Given the description of an element on the screen output the (x, y) to click on. 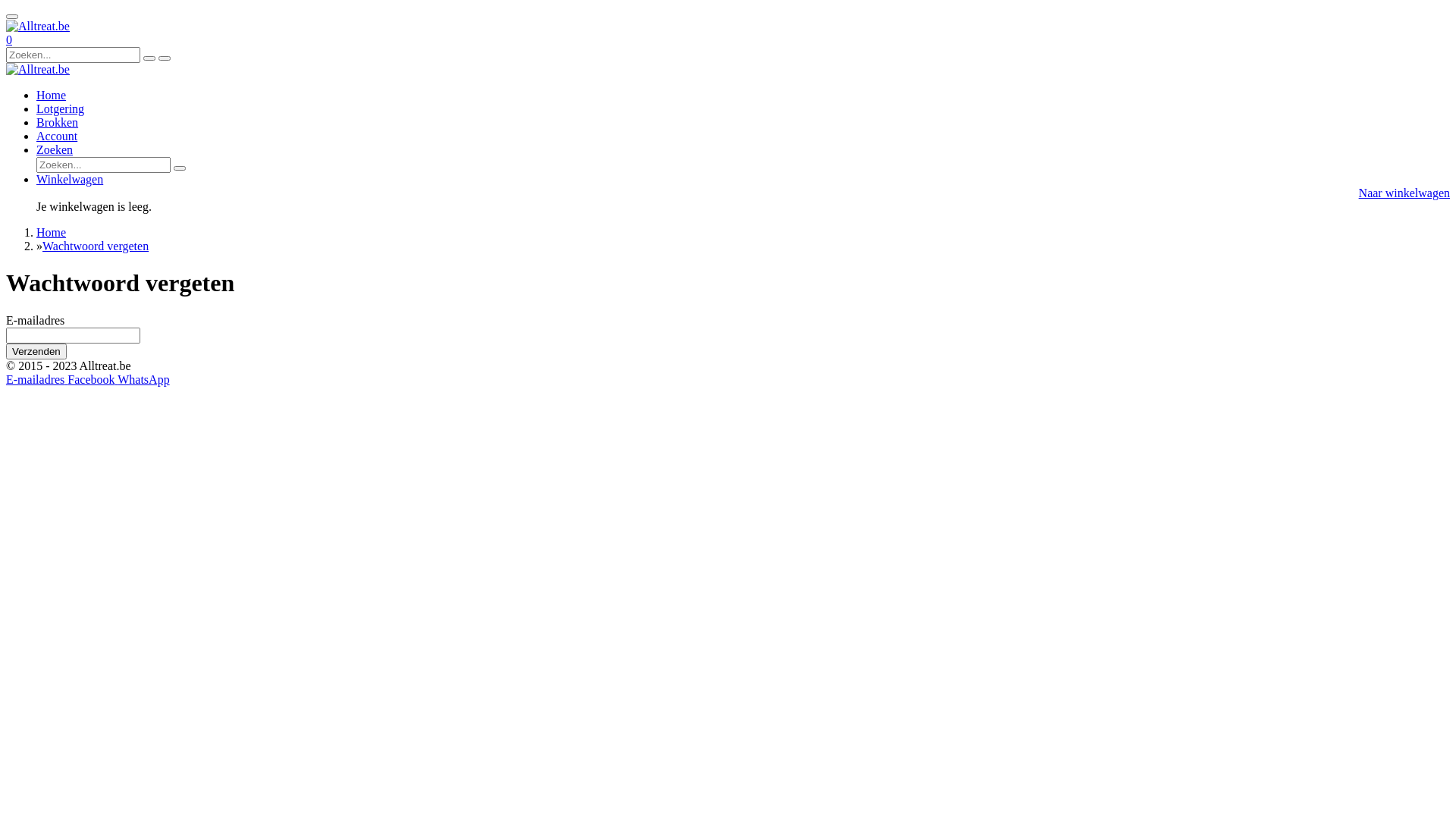
Verzenden Element type: text (36, 351)
Account Element type: text (56, 135)
0 Element type: text (9, 39)
E-mailadres Element type: text (36, 379)
Wachtwoord vergeten Element type: text (95, 245)
Alltreat.be Element type: hover (37, 69)
Home Element type: text (50, 231)
Home Element type: text (50, 94)
Naar winkelwagen Element type: text (1403, 192)
WhatsApp Element type: text (143, 379)
Alltreat.be Element type: hover (37, 26)
Lotgering Element type: text (60, 108)
Winkelwagen Element type: text (69, 178)
Brokken Element type: text (57, 122)
Zoeken Element type: text (54, 149)
Facebook Element type: text (92, 379)
